Given the description of an element on the screen output the (x, y) to click on. 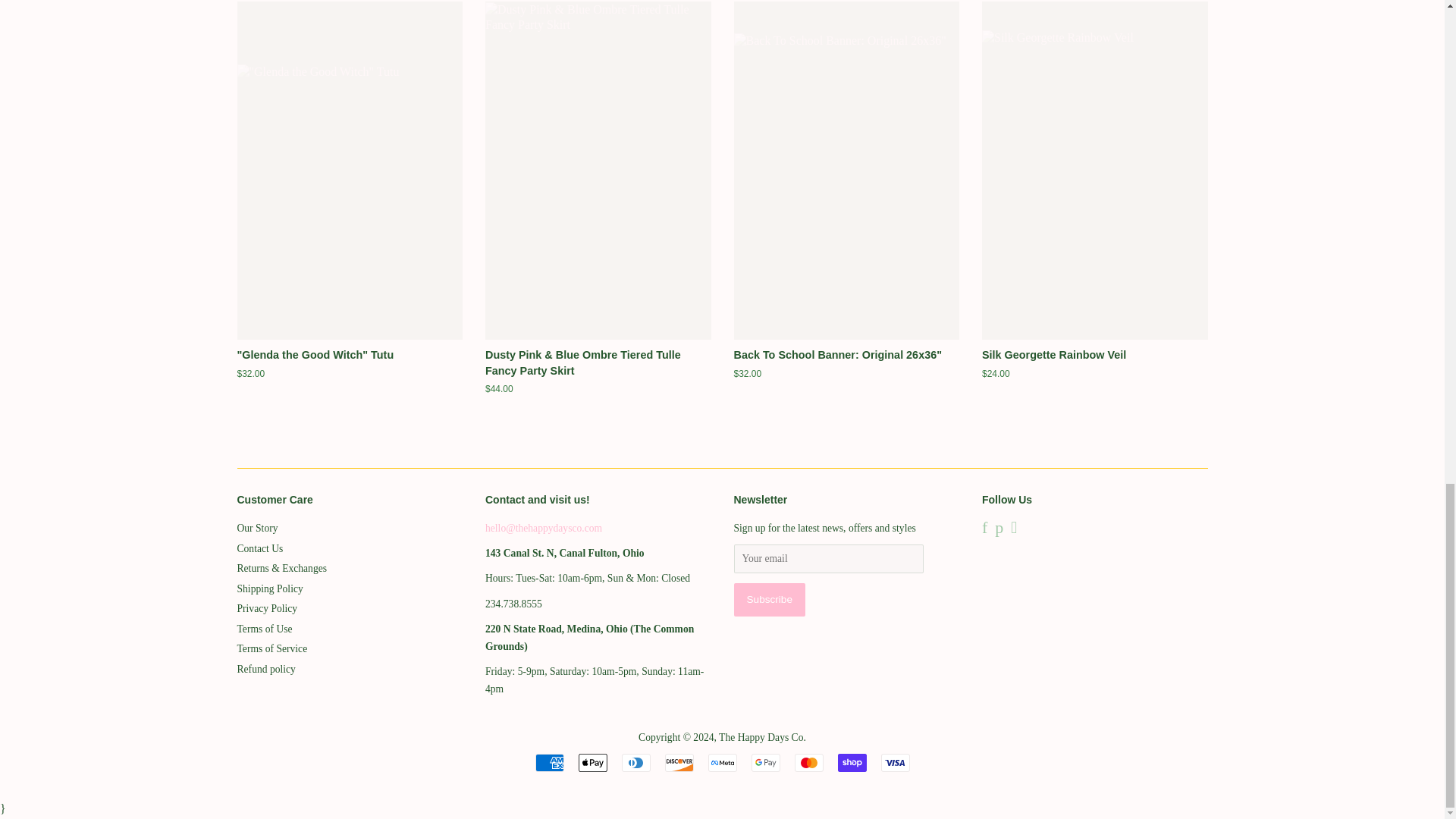
Diners Club (635, 762)
Google Pay (764, 762)
Visa (895, 762)
Shop Pay (851, 762)
Discover (678, 762)
Meta Pay (721, 762)
Apple Pay (592, 762)
Contact Us (543, 527)
American Express (549, 762)
Mastercard (809, 762)
Subscribe (769, 599)
